Given the description of an element on the screen output the (x, y) to click on. 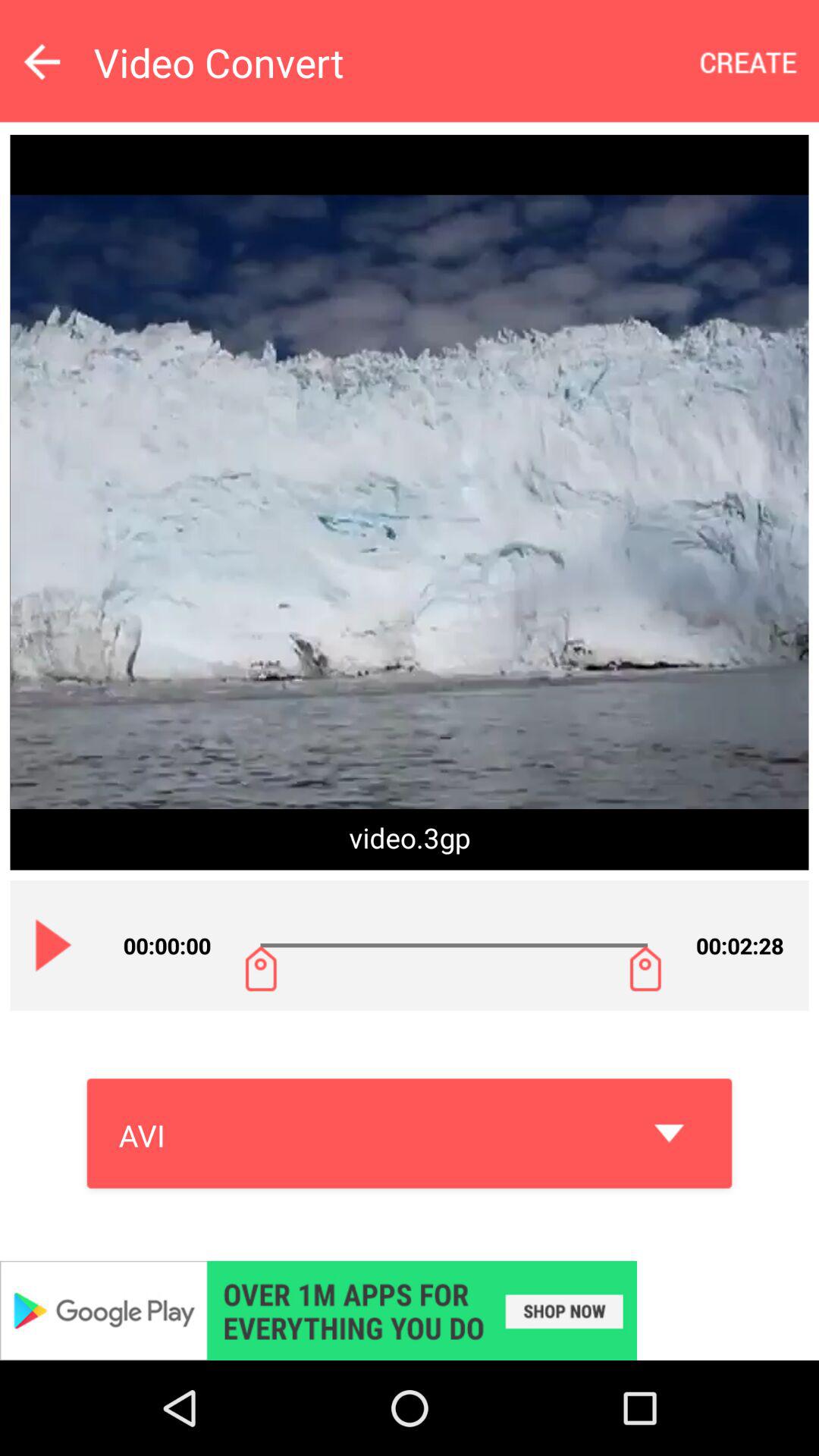
select advertisement (409, 1310)
